Given the description of an element on the screen output the (x, y) to click on. 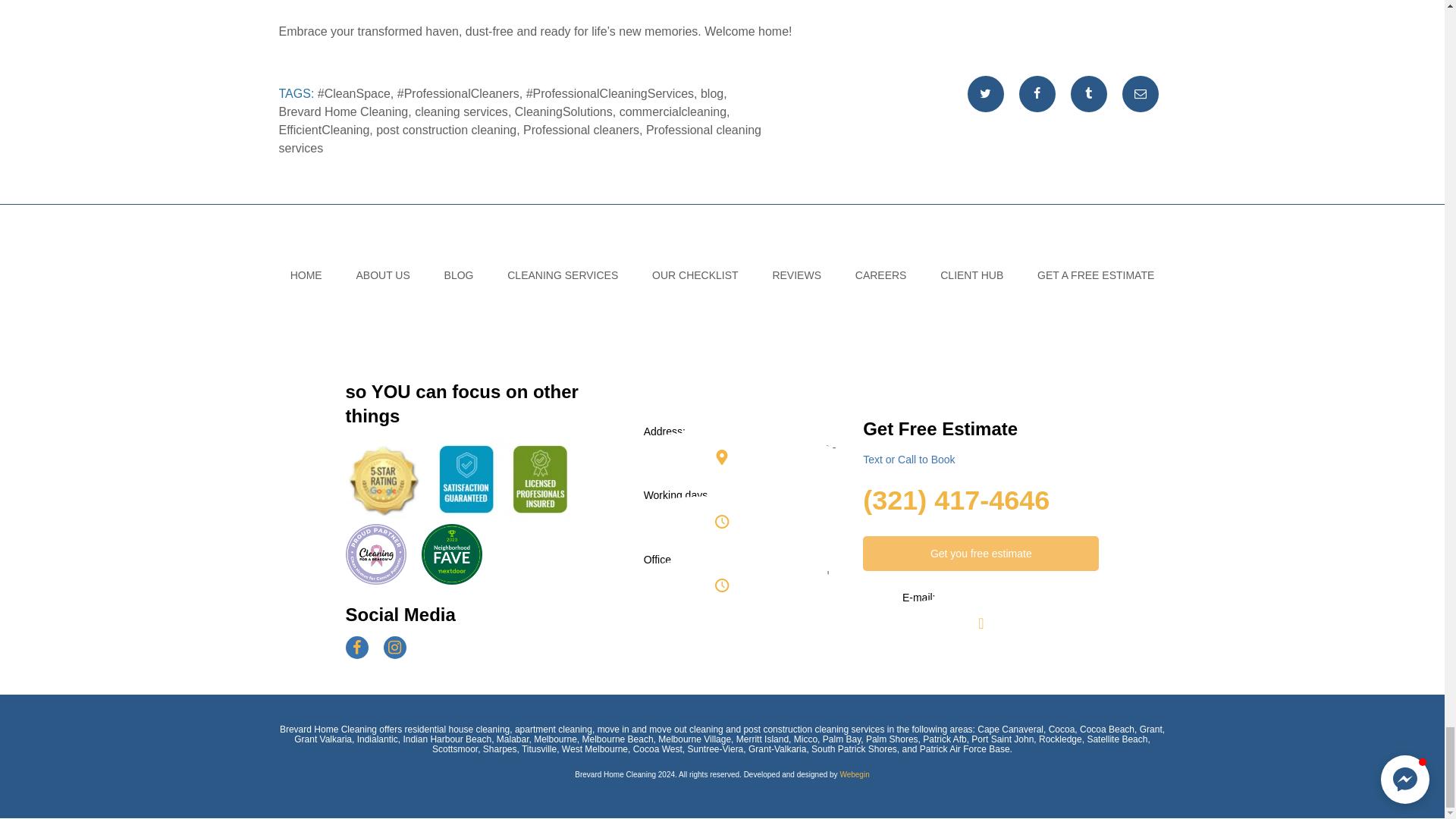
Make an appointment (981, 553)
